Given the description of an element on the screen output the (x, y) to click on. 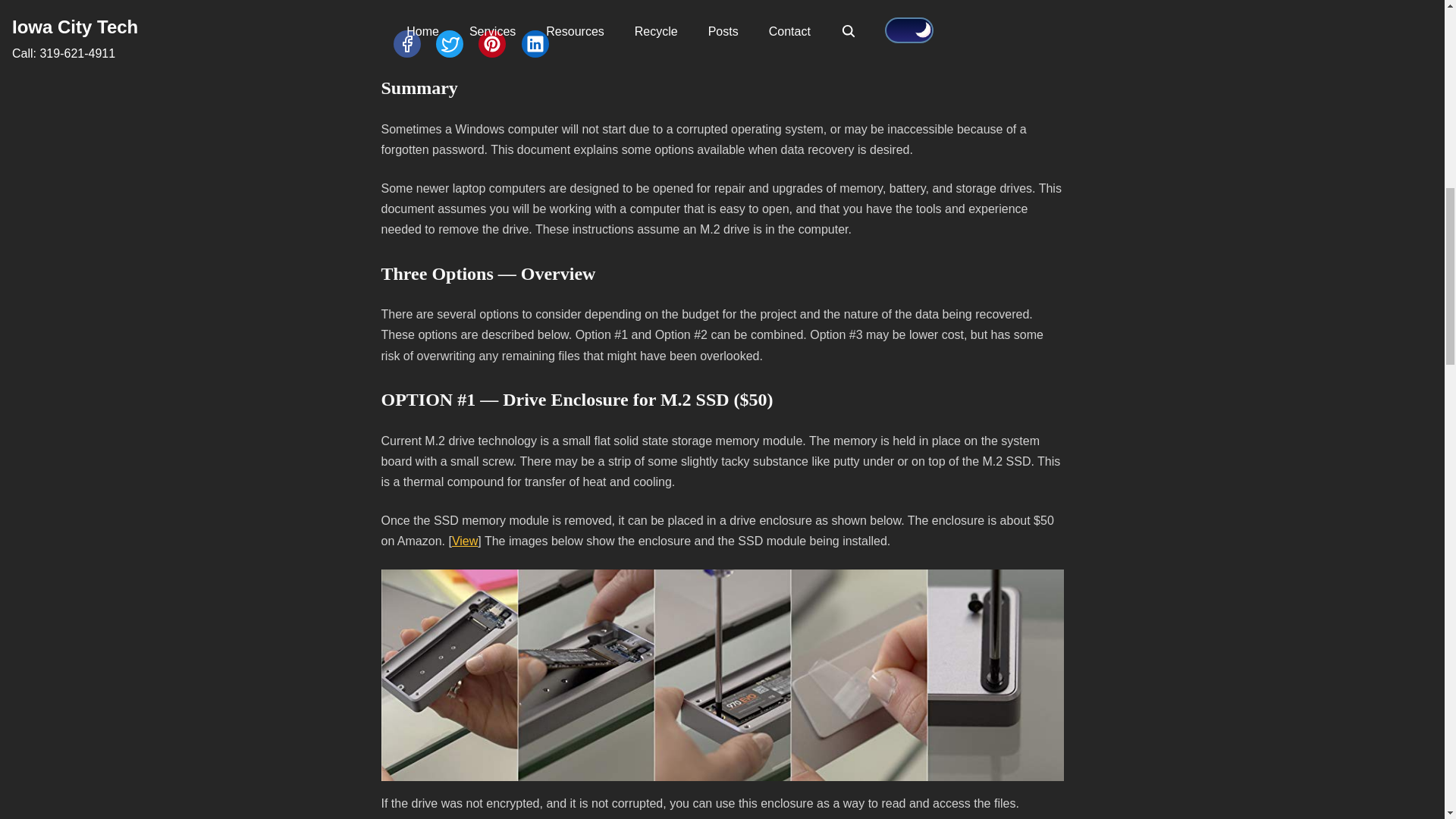
View (464, 540)
Share this post on Linkedin (534, 43)
Share this post on Twitter (449, 43)
Share this post on Facebook (406, 43)
Share this post on Pinterest (492, 43)
